Given the description of an element on the screen output the (x, y) to click on. 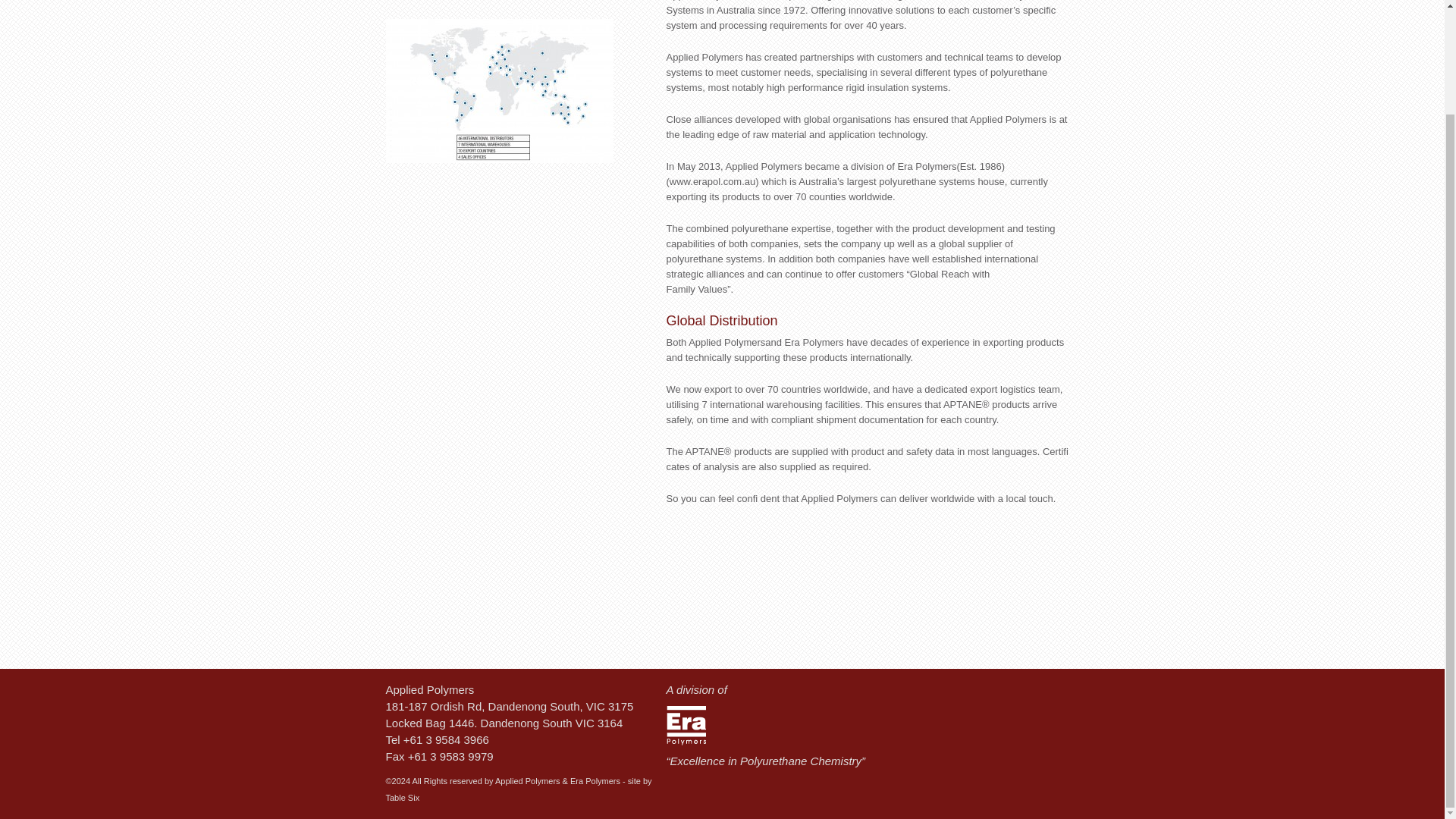
site by Table Six (517, 789)
Era Polymers (684, 725)
Ariel Industries (450, 1)
table-six.com (517, 789)
